Given the description of an element on the screen output the (x, y) to click on. 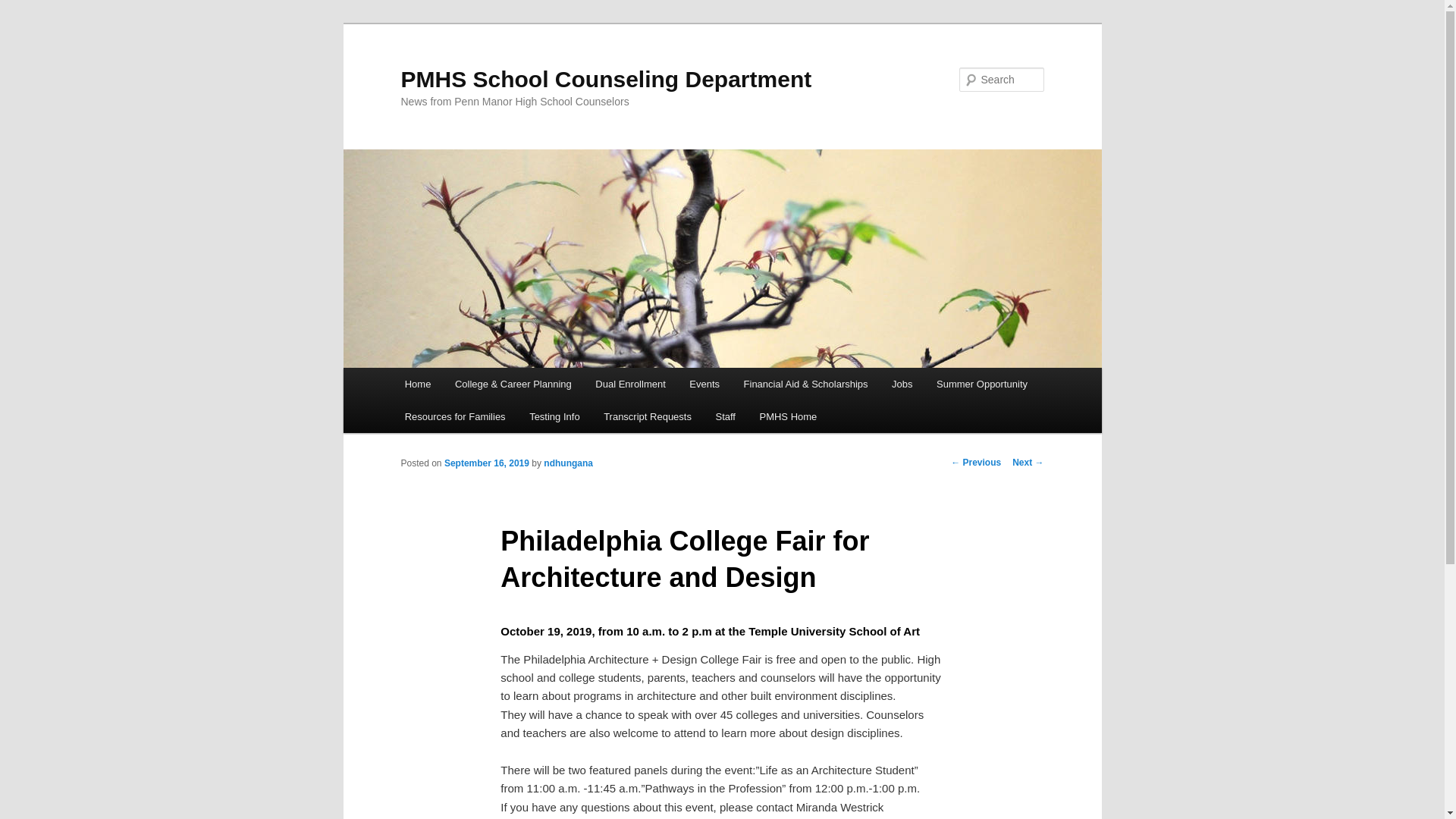
Testing Info (553, 416)
PMHS School Counseling Department (605, 78)
Jobs (901, 383)
Summer Opportunity (981, 383)
9:19 am (486, 462)
View all posts by ndhungana (567, 462)
Transcript Requests (647, 416)
September 16, 2019 (486, 462)
PMHS Home (788, 416)
ndhungana (567, 462)
Search (24, 8)
Home (417, 383)
Dual Enrollment (630, 383)
Resources for Families (454, 416)
Staff (725, 416)
